Given the description of an element on the screen output the (x, y) to click on. 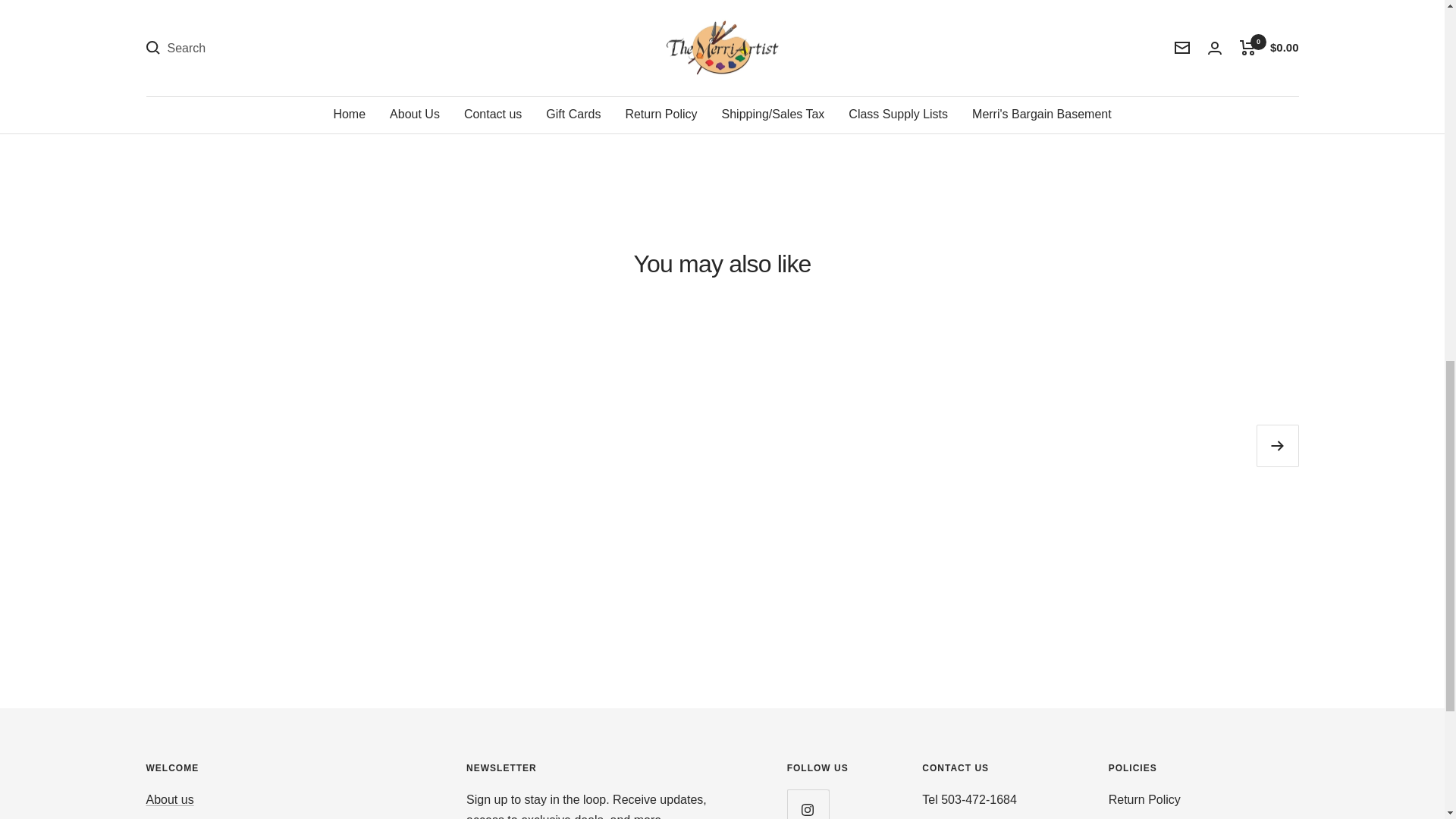
About Us (169, 799)
